Given the description of an element on the screen output the (x, y) to click on. 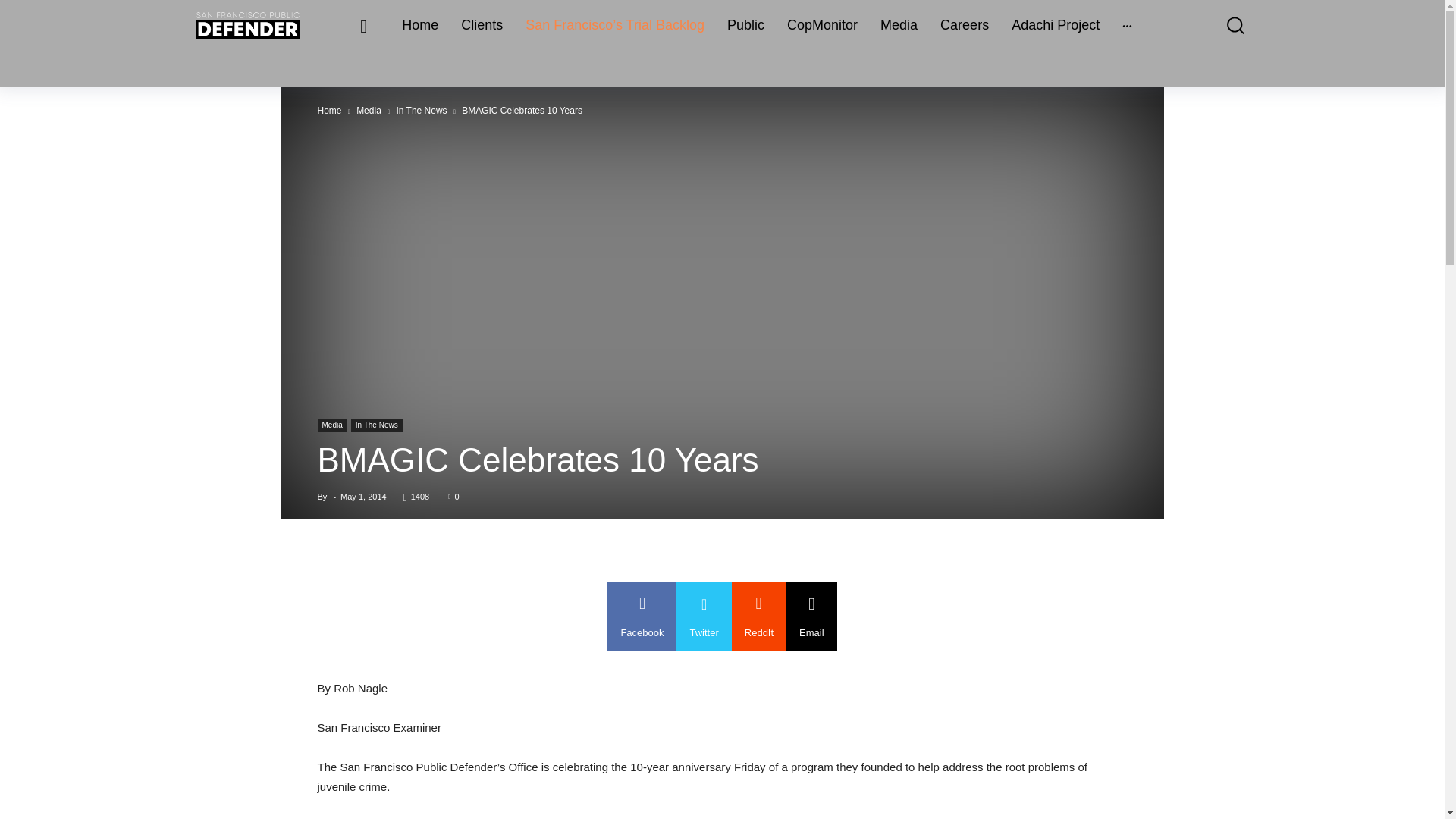
View all posts in In The News (421, 110)
In The News (421, 110)
In The News (376, 425)
Home (419, 25)
Careers (964, 25)
CopMonitor (821, 25)
Facebook (642, 616)
Media (898, 25)
Media (368, 110)
Public (745, 25)
0 (453, 496)
Facebook (642, 616)
highlight (614, 25)
View all posts in Media (368, 110)
Media (331, 425)
